Given the description of an element on the screen output the (x, y) to click on. 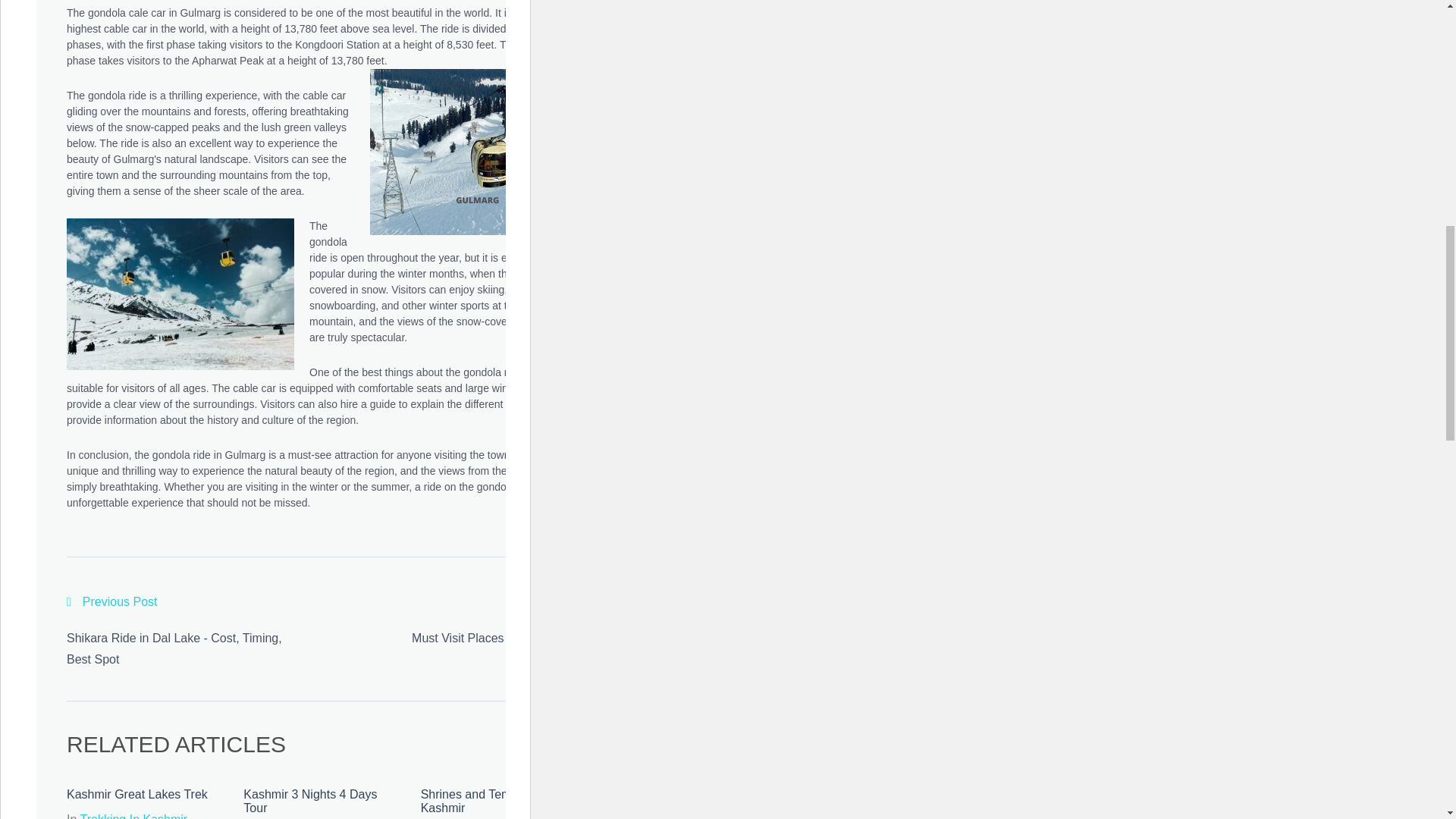
Kashmir Great Lakes Trek (137, 793)
Previous Post (111, 601)
Permalink to Kashmir Great Lakes Trek (137, 793)
Permalink to Kashmir 3 Nights 4 Days Tour (310, 800)
Trekking in Kashmir (133, 816)
Shikara Ride in Dal Lake - Cost, Timing, Best Spot (174, 648)
Kashmir 3 Nights 4 Days Tour (310, 800)
Trekking In Kashmir (133, 816)
